Given the description of an element on the screen output the (x, y) to click on. 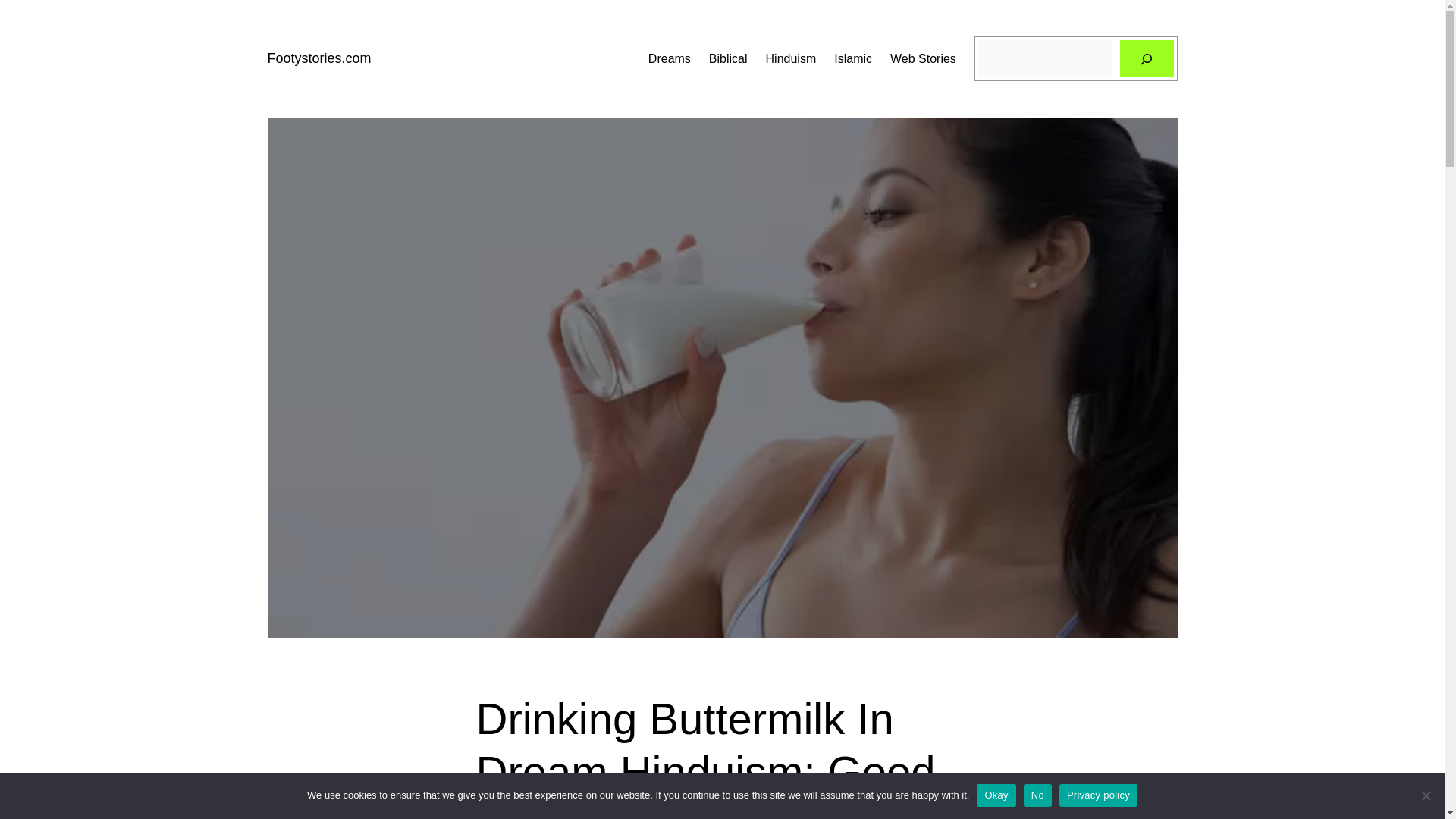
No (1425, 795)
Privacy policy (1098, 794)
Footystories.com (318, 58)
Biblical (728, 58)
Okay (995, 794)
Islamic (853, 58)
No (1037, 794)
Dreams (668, 58)
Hinduism (790, 58)
Web Stories (922, 58)
